Given the description of an element on the screen output the (x, y) to click on. 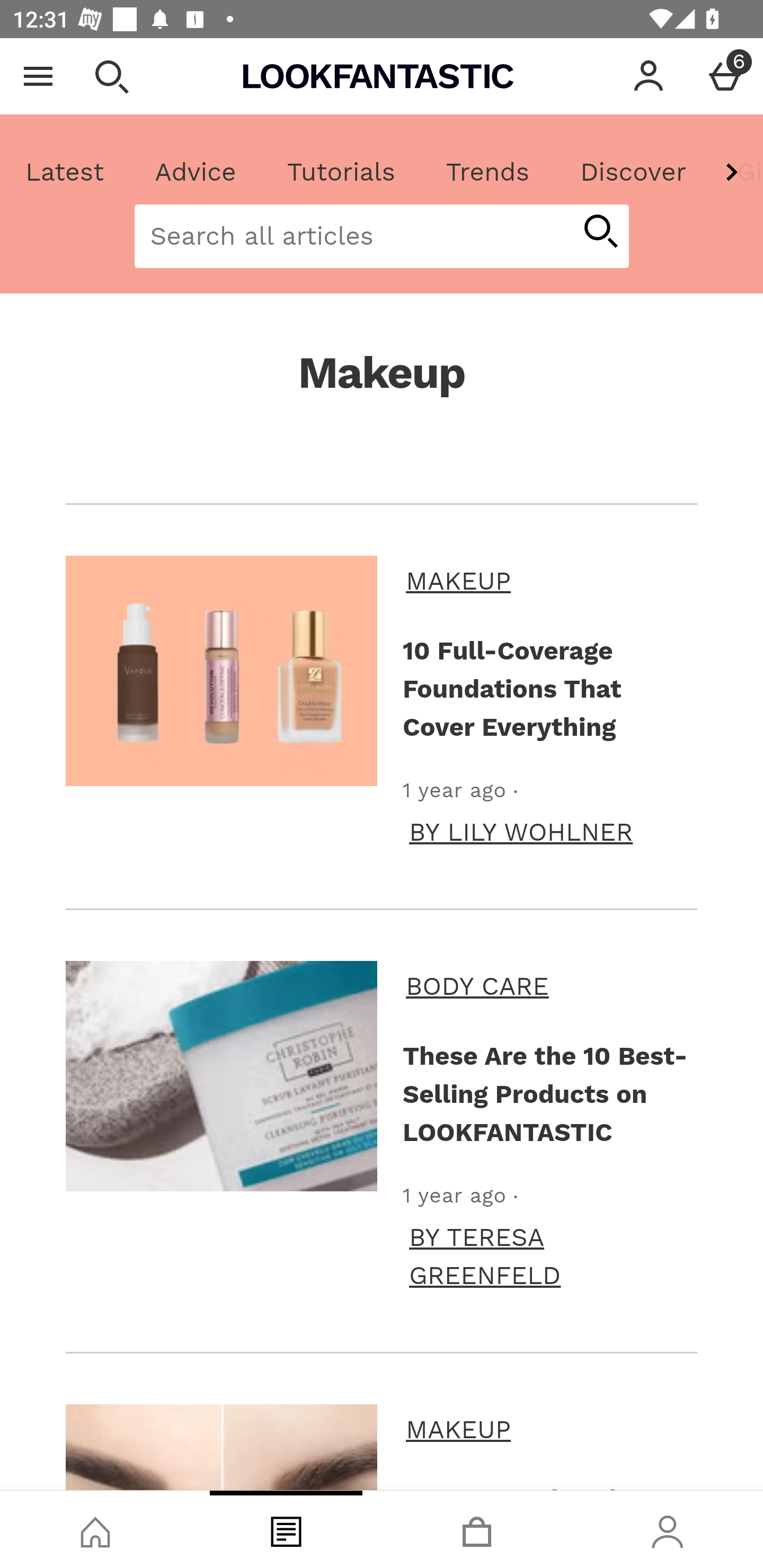
Open Menu (38, 75)
Open search (111, 75)
Account (648, 75)
Basket Menu (724, 75)
Lookfantastic USA Home page (378, 76)
Latest (65, 172)
Advice (195, 172)
Tutorials (340, 172)
Trends (486, 172)
Discover (632, 172)
Gift Guide (736, 172)
start article search (599, 232)
10 Full-Coverage Foundations That Cover Everything (221, 671)
MAKEUP (548, 580)
10 Full-Coverage Foundations That Cover Everything (546, 688)
BY LILY WOHLNER (521, 831)
BODY CARE (548, 985)
BY TERESA GREENFELD (550, 1255)
MAKEUP (548, 1429)
Shop, tab, 1 of 4 (95, 1529)
Blog, tab, 2 of 4 (285, 1529)
Basket, tab, 3 of 4 (476, 1529)
Account, tab, 4 of 4 (667, 1529)
